Given the description of an element on the screen output the (x, y) to click on. 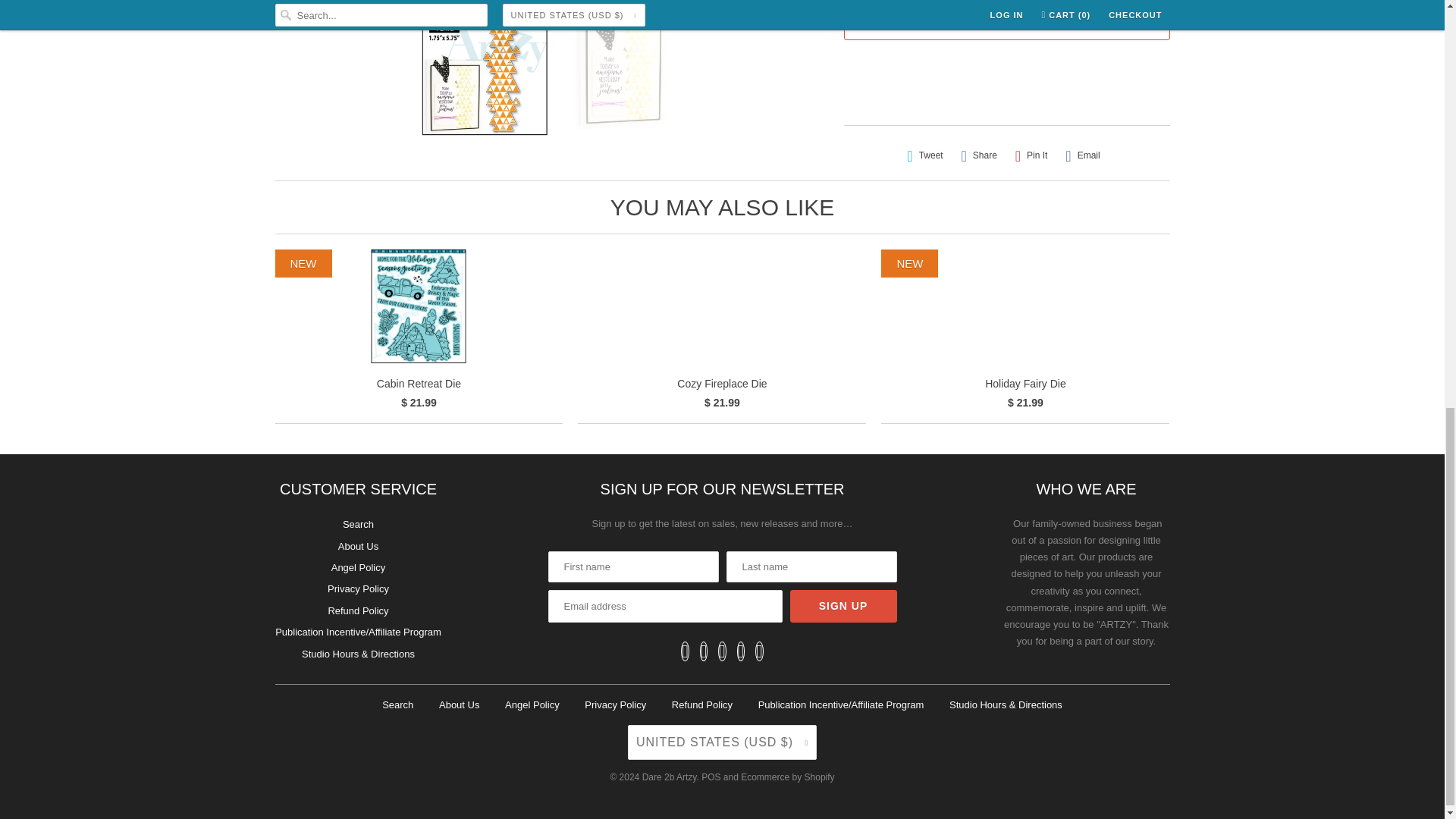
Sign Up (843, 605)
Email this to a friend (1082, 155)
Share this on Twitter (924, 155)
Share this on Pinterest (1031, 155)
Share this on Facebook (978, 155)
